Given the description of an element on the screen output the (x, y) to click on. 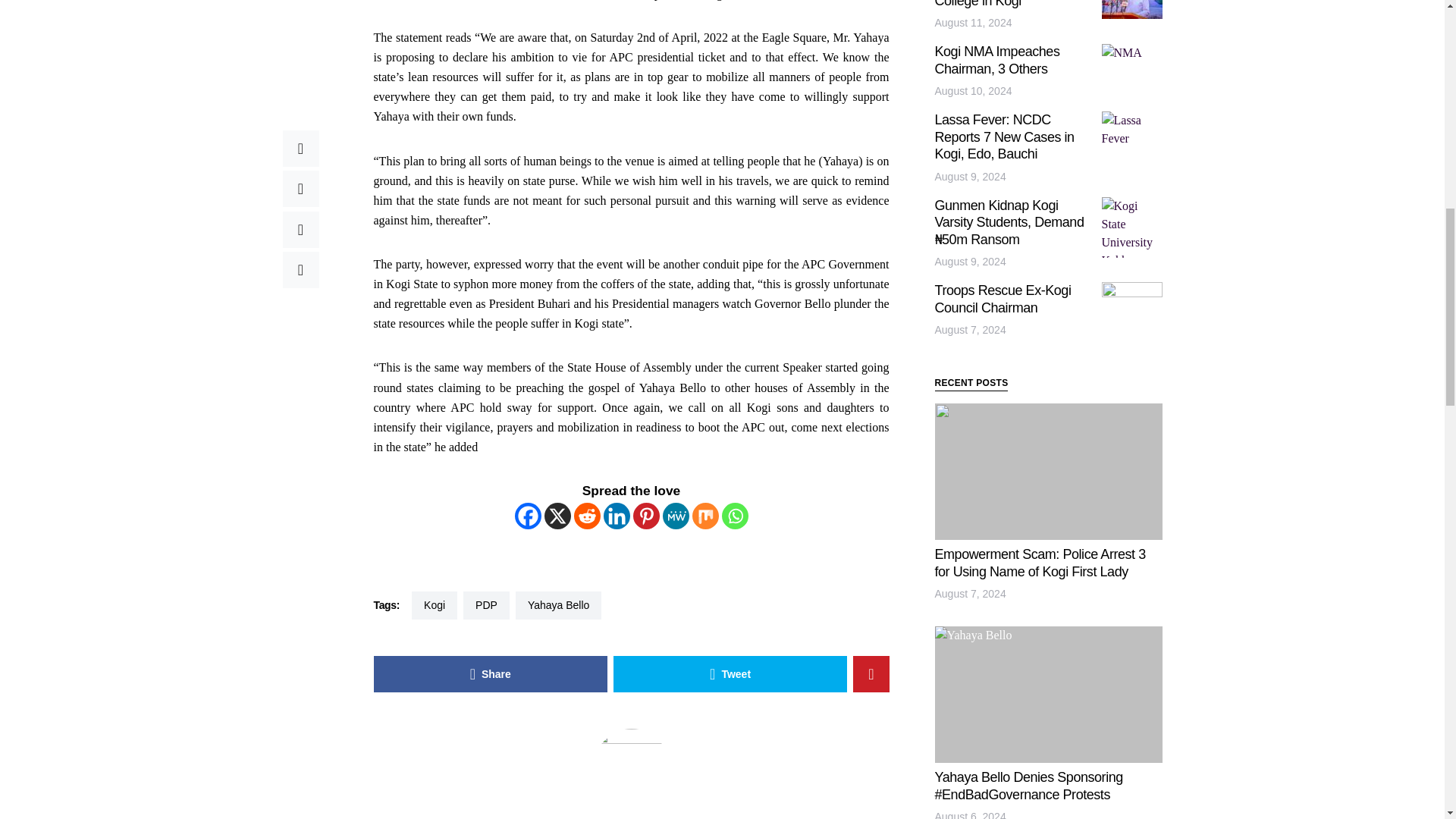
Reddit (586, 515)
X (557, 515)
Pinterest (645, 515)
MeWe (675, 515)
Mix (704, 515)
Linkedin (617, 515)
Whatsapp (735, 515)
Facebook (526, 515)
